Given the description of an element on the screen output the (x, y) to click on. 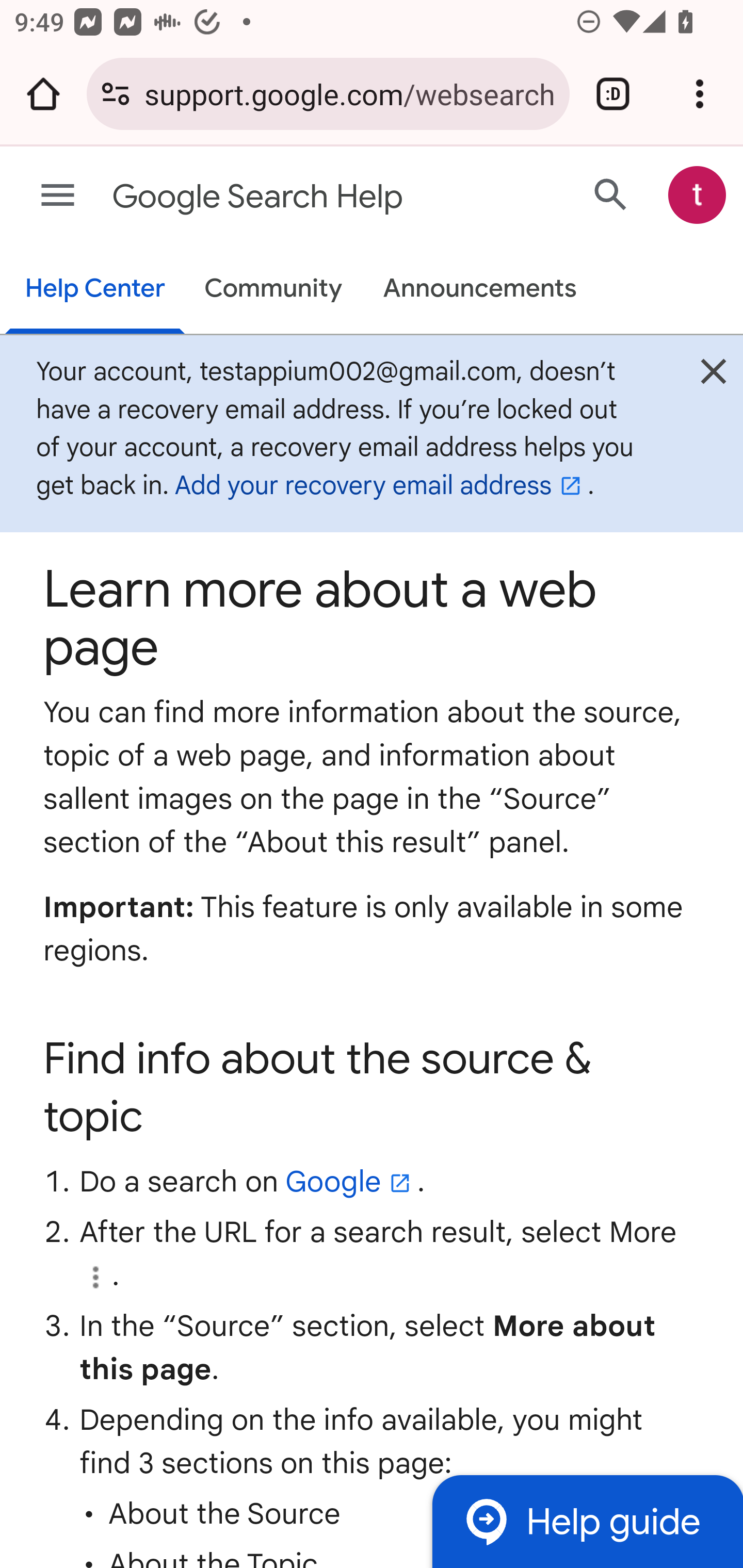
Open the home page (43, 93)
Connection is secure (115, 93)
Switch or close tabs (612, 93)
Customize and control Google Chrome (699, 93)
Main menu (58, 195)
Google Search Help (292, 197)
Search Help Center (611, 194)
Help Center (94, 289)
Community (273, 289)
Announcements (479, 289)
Close (713, 376)
Add your recovery email address (380, 485)
Google (352, 1180)
Help guide (587, 1520)
